Given the description of an element on the screen output the (x, y) to click on. 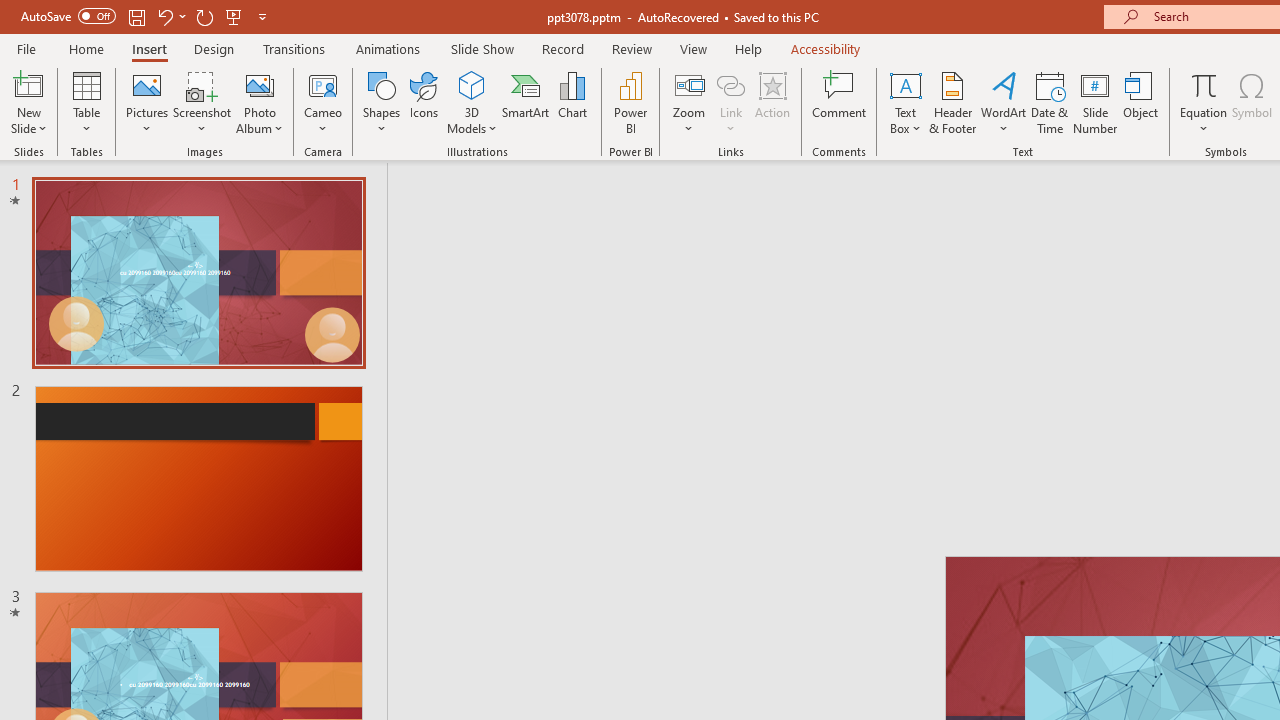
Symbol... (1252, 102)
Object... (1141, 102)
Action (772, 102)
Date & Time... (1050, 102)
Power BI (630, 102)
Comment (839, 102)
Table (86, 102)
3D Models (472, 102)
Chart... (572, 102)
